Given the description of an element on the screen output the (x, y) to click on. 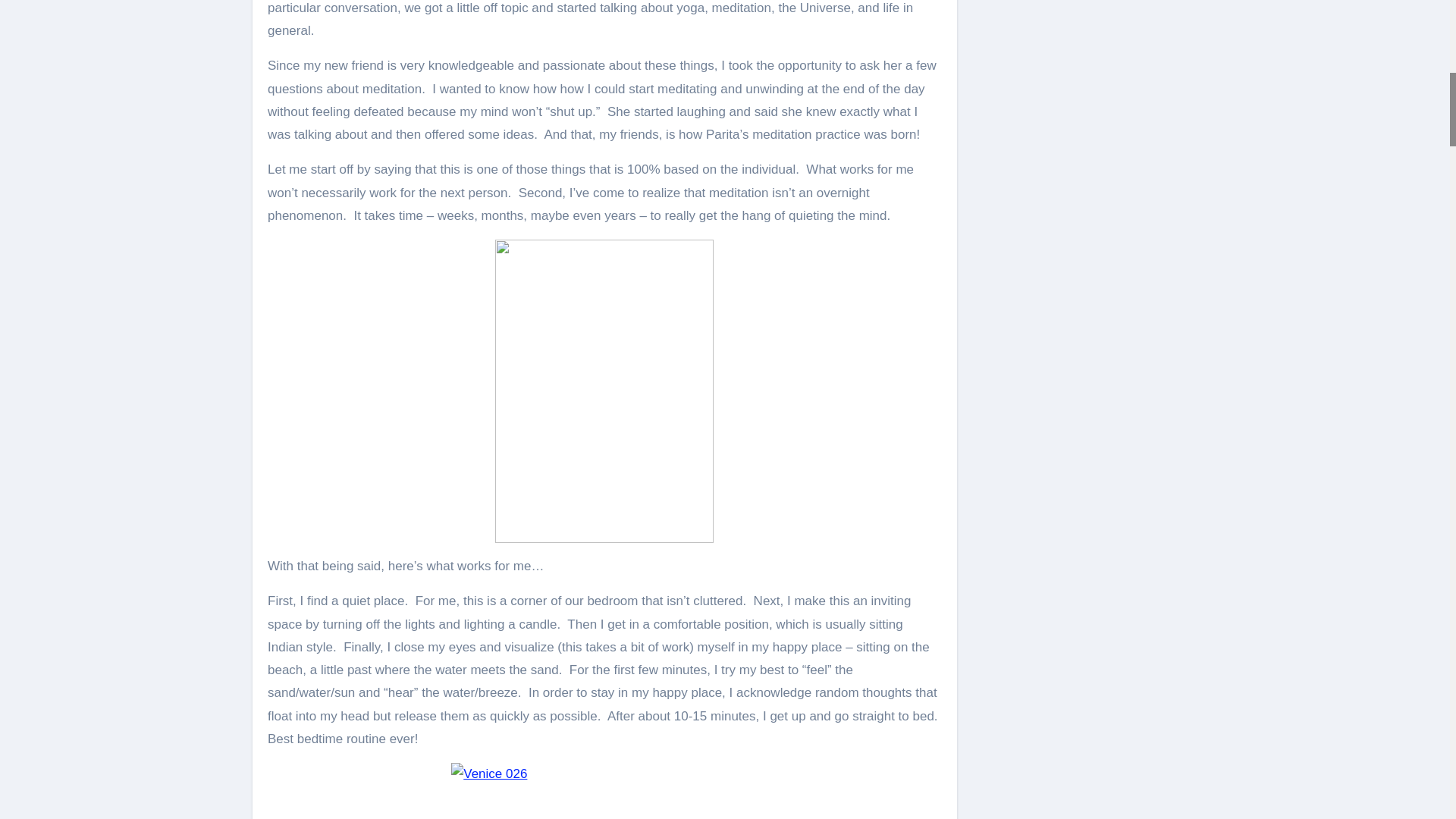
Venice 026 (604, 790)
